Given the description of an element on the screen output the (x, y) to click on. 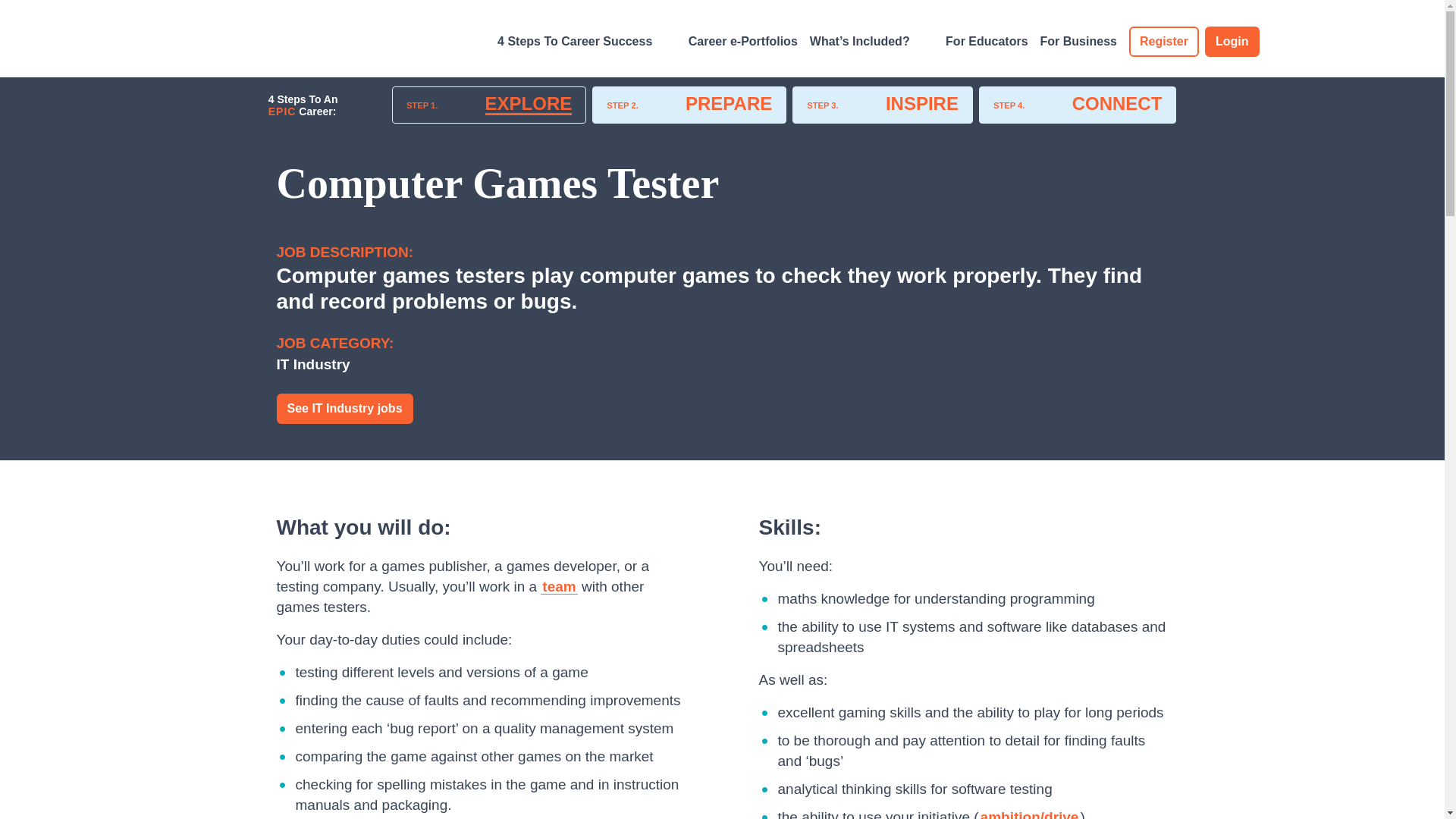
Career e-Portfolios (748, 41)
Create your account (1163, 41)
STEP 2. PREPARE (689, 104)
Career e-Portfolios (748, 41)
4 Steps To Career Success (592, 41)
For Educators (991, 41)
STEP 3. INSPIRE (882, 104)
STEP 1. EXPLORE (488, 104)
Login (1232, 41)
For Business (1078, 41)
